Given the description of an element on the screen output the (x, y) to click on. 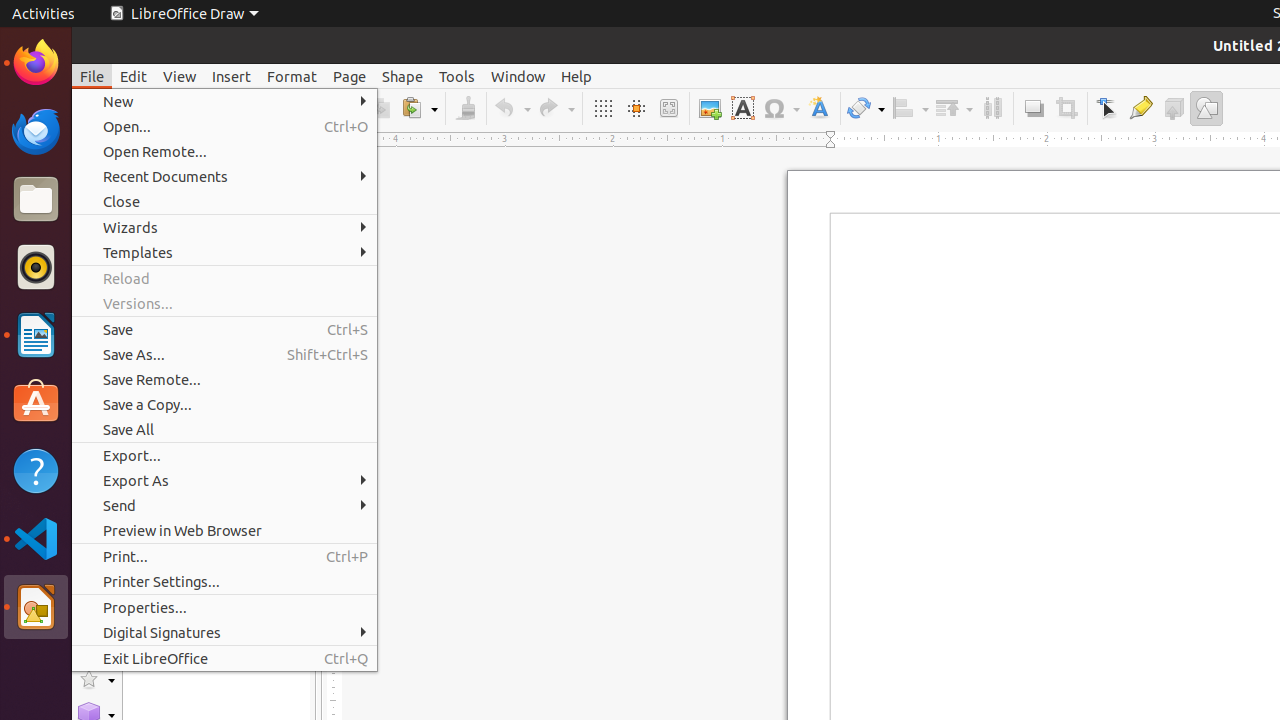
Insert Element type: menu (231, 76)
Save All Element type: menu-item (224, 429)
Save Remote... Element type: menu-item (224, 379)
Shadow Element type: toggle-button (1033, 108)
Crop Element type: push-button (1066, 108)
